Given the description of an element on the screen output the (x, y) to click on. 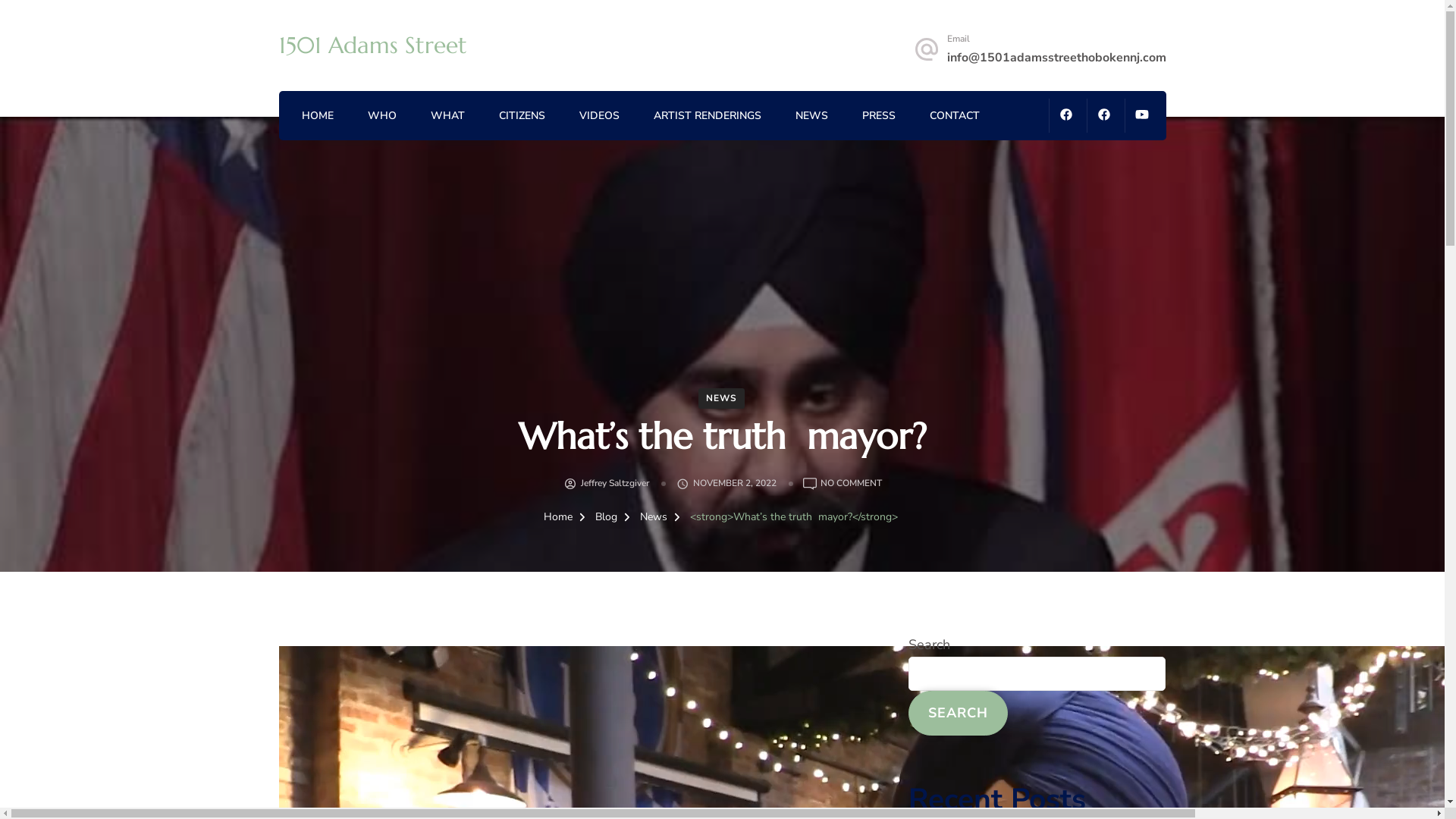
PRESS Element type: text (877, 116)
1501 Adams Street Element type: text (373, 45)
Jeffrey Saltzgiver Element type: text (614, 483)
News Element type: text (655, 516)
WHO Element type: text (381, 116)
NEWS Element type: text (810, 116)
info@1501adamsstreethobokennj.com Element type: text (1055, 57)
ARTIST RENDERINGS Element type: text (707, 116)
HOME Element type: text (317, 116)
NO COMMENT
ON Element type: text (850, 483)
VIDEOS Element type: text (599, 116)
SEARCH Element type: text (957, 712)
NOVEMBER 2, 2022 Element type: text (734, 483)
CONTACT Element type: text (954, 116)
NEWS Element type: text (721, 398)
Home Element type: text (556, 516)
CITIZENS Element type: text (521, 116)
Blog Element type: text (606, 516)
WHAT Element type: text (447, 116)
